Given the description of an element on the screen output the (x, y) to click on. 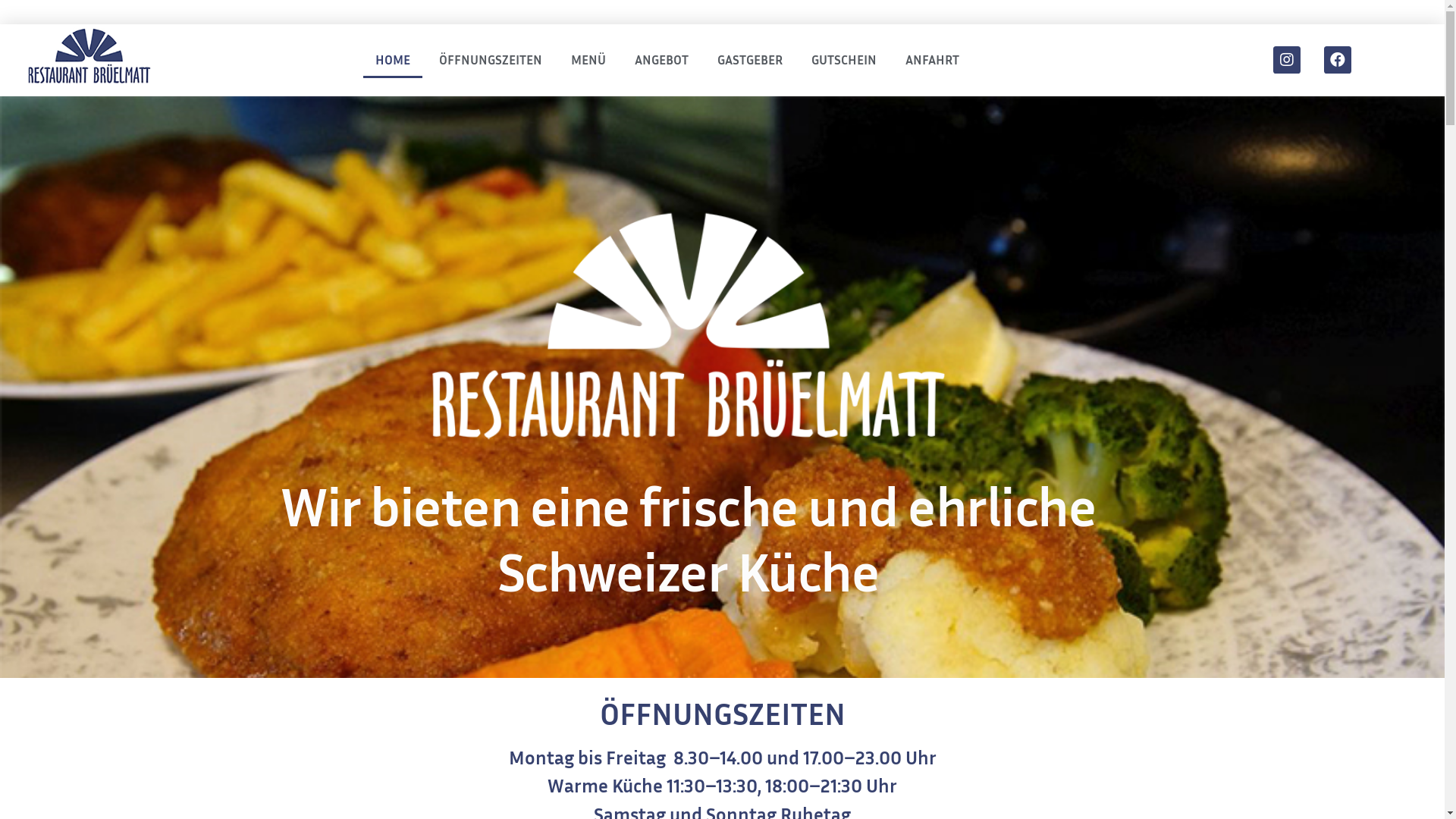
HOME Element type: text (392, 59)
ANFAHRT Element type: text (932, 59)
GASTGEBER Element type: text (749, 59)
ANGEBOT Element type: text (661, 59)
GUTSCHEIN Element type: text (843, 59)
